Given the description of an element on the screen output the (x, y) to click on. 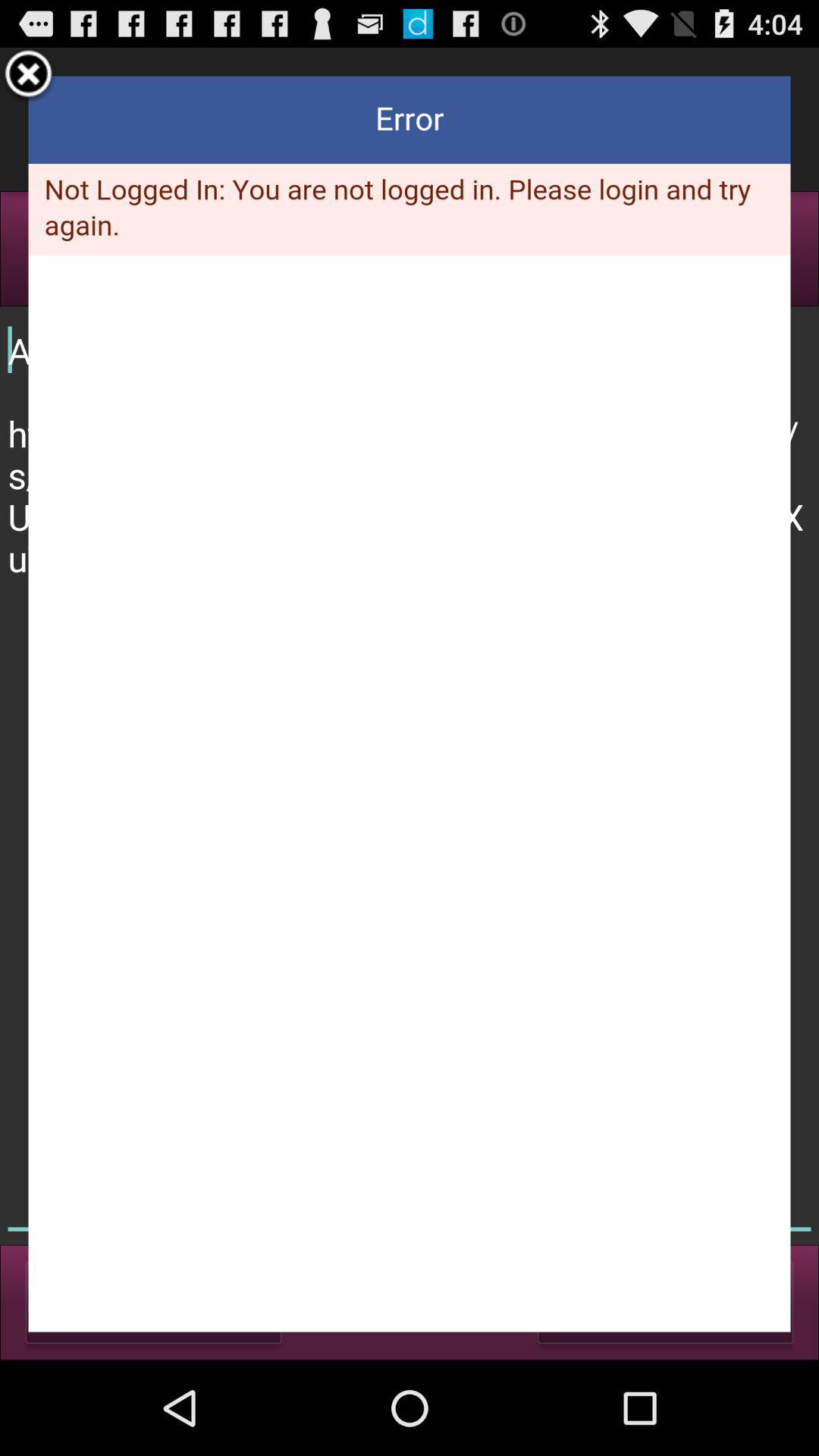
close window (28, 75)
